Given the description of an element on the screen output the (x, y) to click on. 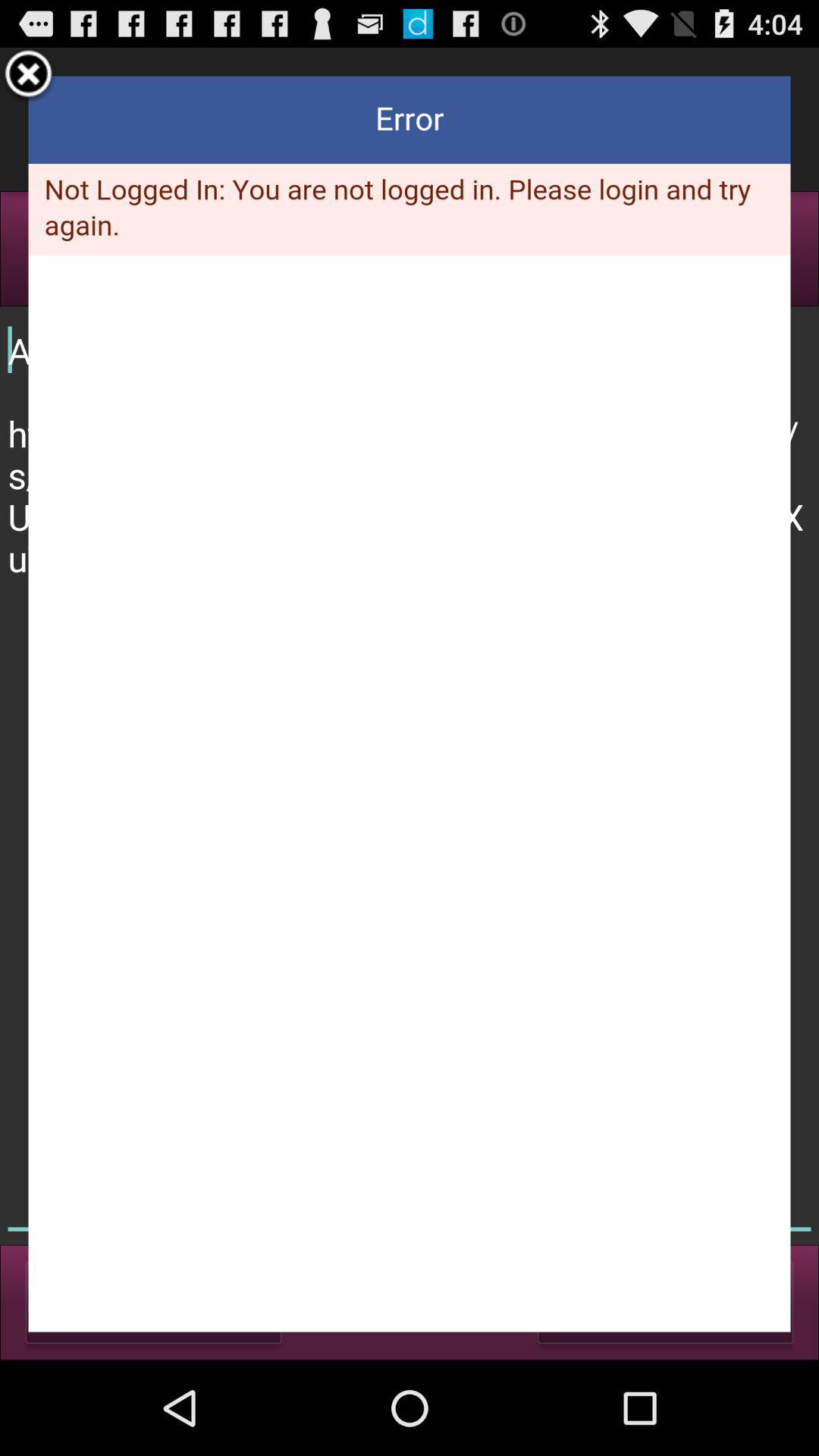
close window (28, 75)
